Given the description of an element on the screen output the (x, y) to click on. 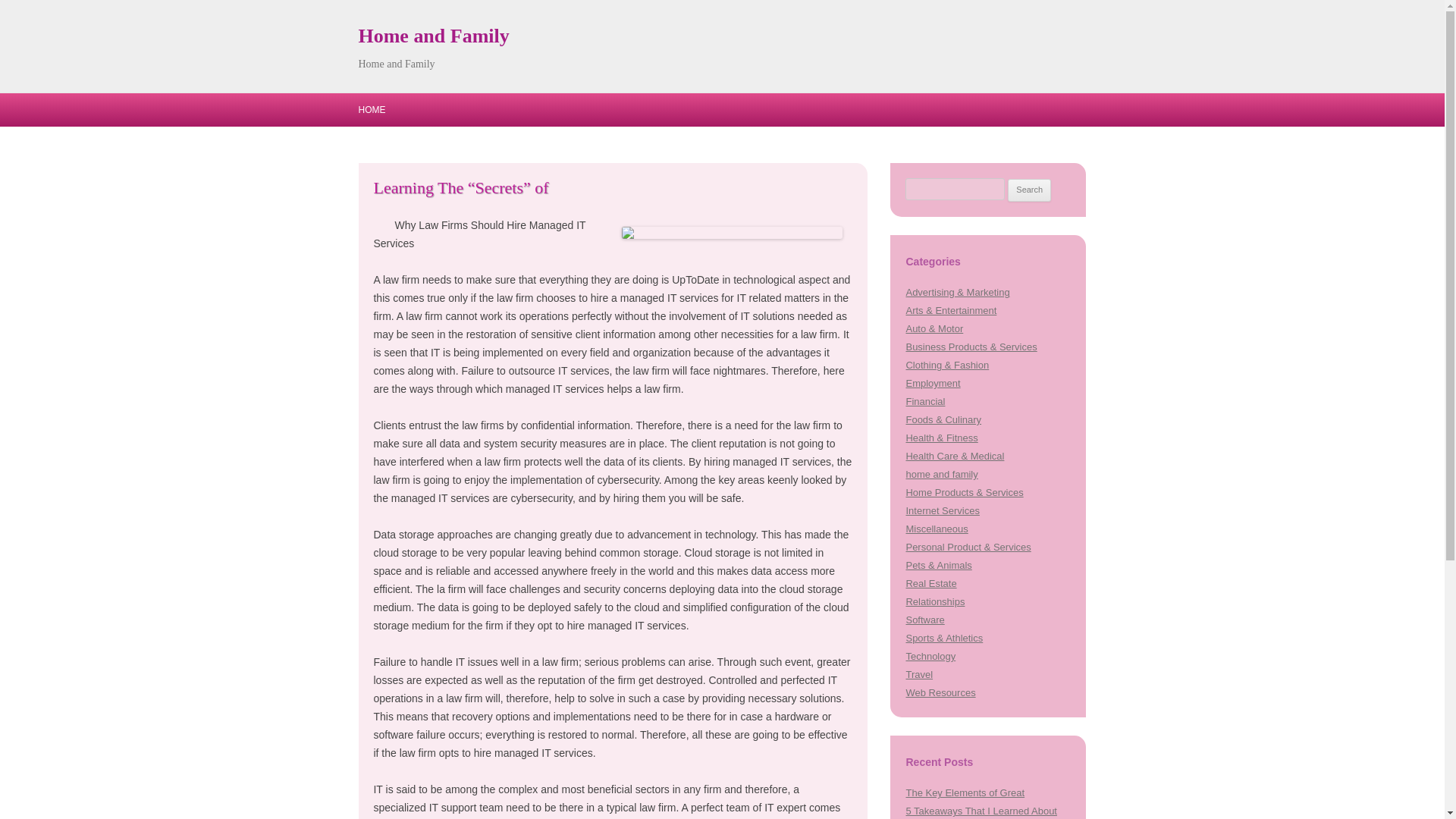
Search (1029, 190)
Relationships (934, 601)
Web Resources (940, 692)
Home and Family (433, 36)
Financial (924, 401)
The Key Elements of Great (965, 792)
Software (924, 619)
home and family (940, 473)
Real Estate (930, 583)
Technology (930, 655)
